Given the description of an element on the screen output the (x, y) to click on. 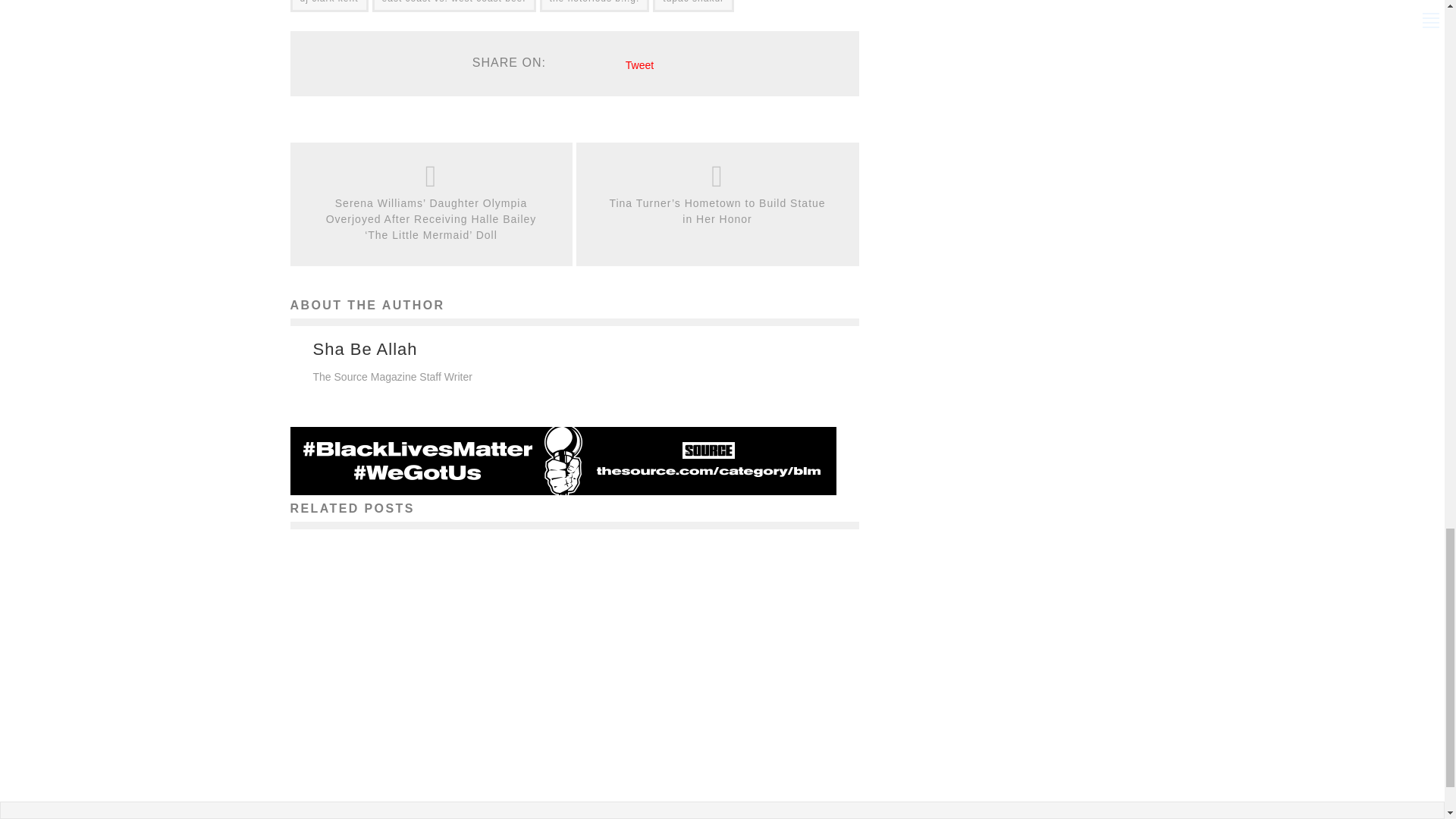
dj clark kent (328, 6)
the notorious b.i.g. (594, 6)
tupac shakur (692, 6)
east coast vs. west coast beef (453, 6)
Miss2Bees (383, 795)
Sha Be Allah (364, 349)
Tweet (639, 64)
